Given the description of an element on the screen output the (x, y) to click on. 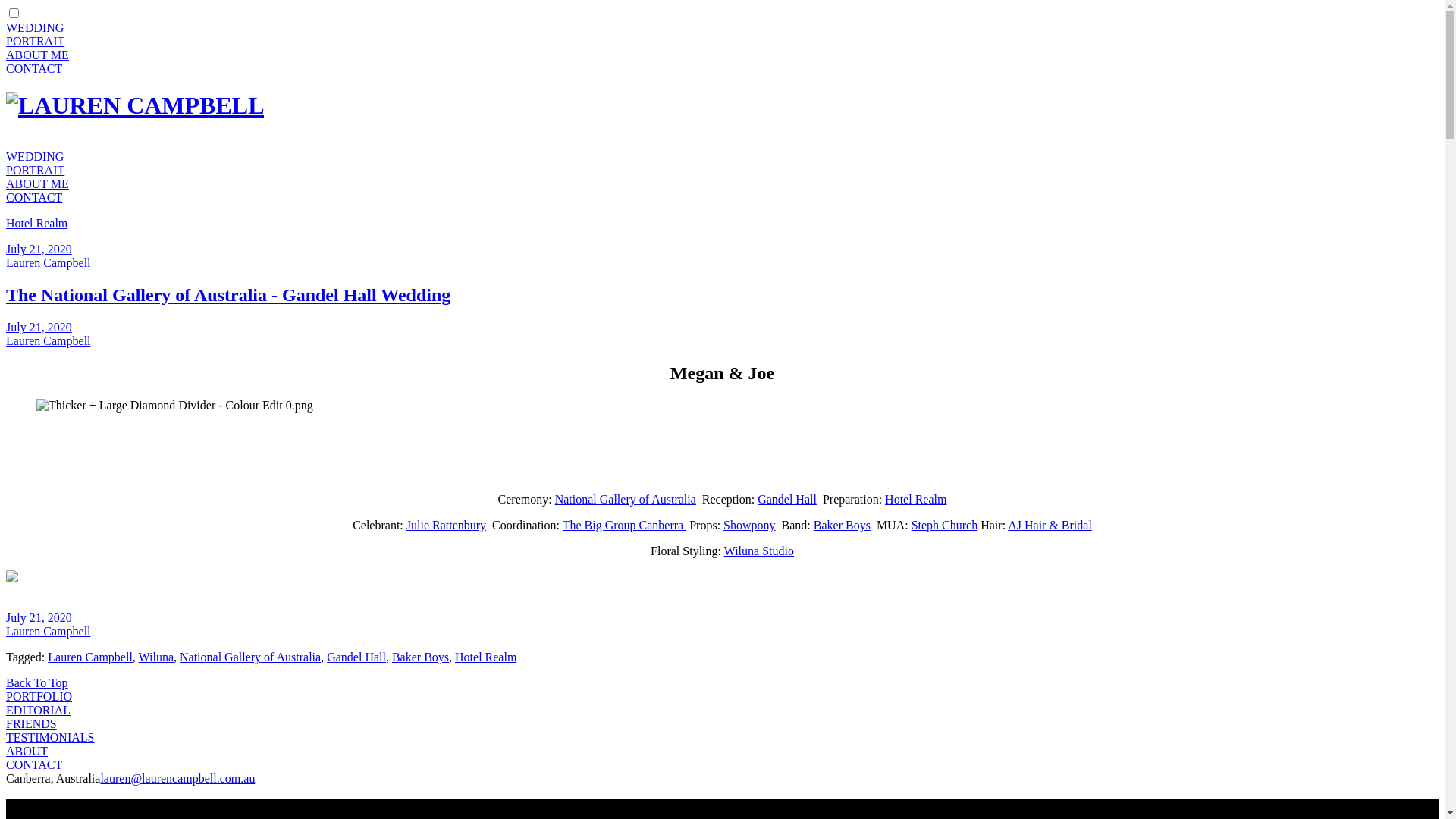
Steph Church Element type: text (944, 524)
Hotel Realm Element type: text (485, 656)
lauren@laurencampbell.com.au Element type: text (177, 777)
National Gallery of Australia Element type: text (249, 656)
Julie Rattenbury Element type: text (446, 524)
July 21, 2020 Element type: text (39, 617)
ABOUT Element type: text (26, 750)
ABOUT ME Element type: text (37, 54)
PORTFOLIO Element type: text (39, 696)
Back To Top Element type: text (37, 682)
WEDDING Element type: text (34, 156)
CONTACT Element type: text (34, 68)
National Gallery of Australia Element type: text (625, 498)
Wiluna Element type: text (155, 656)
Lauren Campbell Element type: text (48, 630)
CONTACT Element type: text (34, 764)
Lauren Campbell Element type: text (48, 262)
Gandel Hall Element type: text (355, 656)
Lauren Campbell Element type: text (48, 340)
The Big Group Canberra  Element type: text (624, 524)
EDITORIAL Element type: text (38, 709)
Baker Boys Element type: text (420, 656)
Showpony Element type: text (749, 524)
Gandel Hall Element type: text (786, 498)
FRIENDS Element type: text (31, 723)
AJ Hair & Bridal Element type: text (1049, 524)
PORTRAIT Element type: text (35, 40)
Hotel Realm Element type: text (36, 222)
WEDDING Element type: text (34, 27)
The National Gallery of Australia - Gandel Hall Wedding Element type: text (228, 294)
PORTRAIT Element type: text (35, 169)
Wiluna Studio Element type: text (758, 550)
ABOUT ME Element type: text (37, 183)
TESTIMONIALS Element type: text (50, 737)
Baker Boys Element type: text (841, 524)
July 21, 2020 Element type: text (39, 326)
Hotel Realm Element type: text (915, 498)
July 21, 2020 Element type: text (39, 248)
Lauren Campbell Element type: text (89, 656)
CONTACT Element type: text (34, 197)
